Given the description of an element on the screen output the (x, y) to click on. 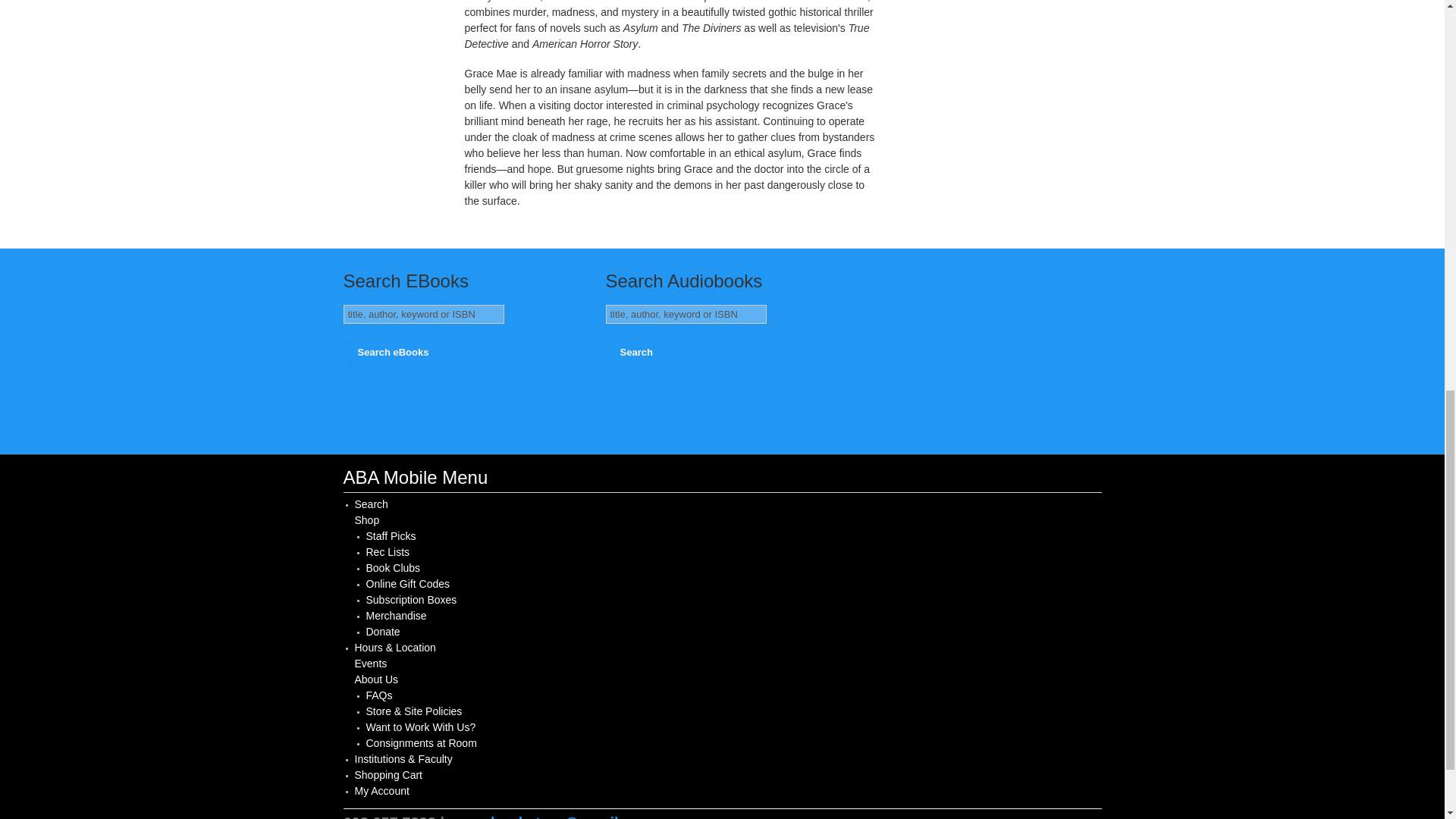
title, author, keyword or ISBN (685, 313)
Search (636, 352)
Search eBooks (393, 352)
Search (371, 503)
title, author, keyword or ISBN (422, 313)
Search eBooks (393, 352)
Search (636, 352)
